Given the description of an element on the screen output the (x, y) to click on. 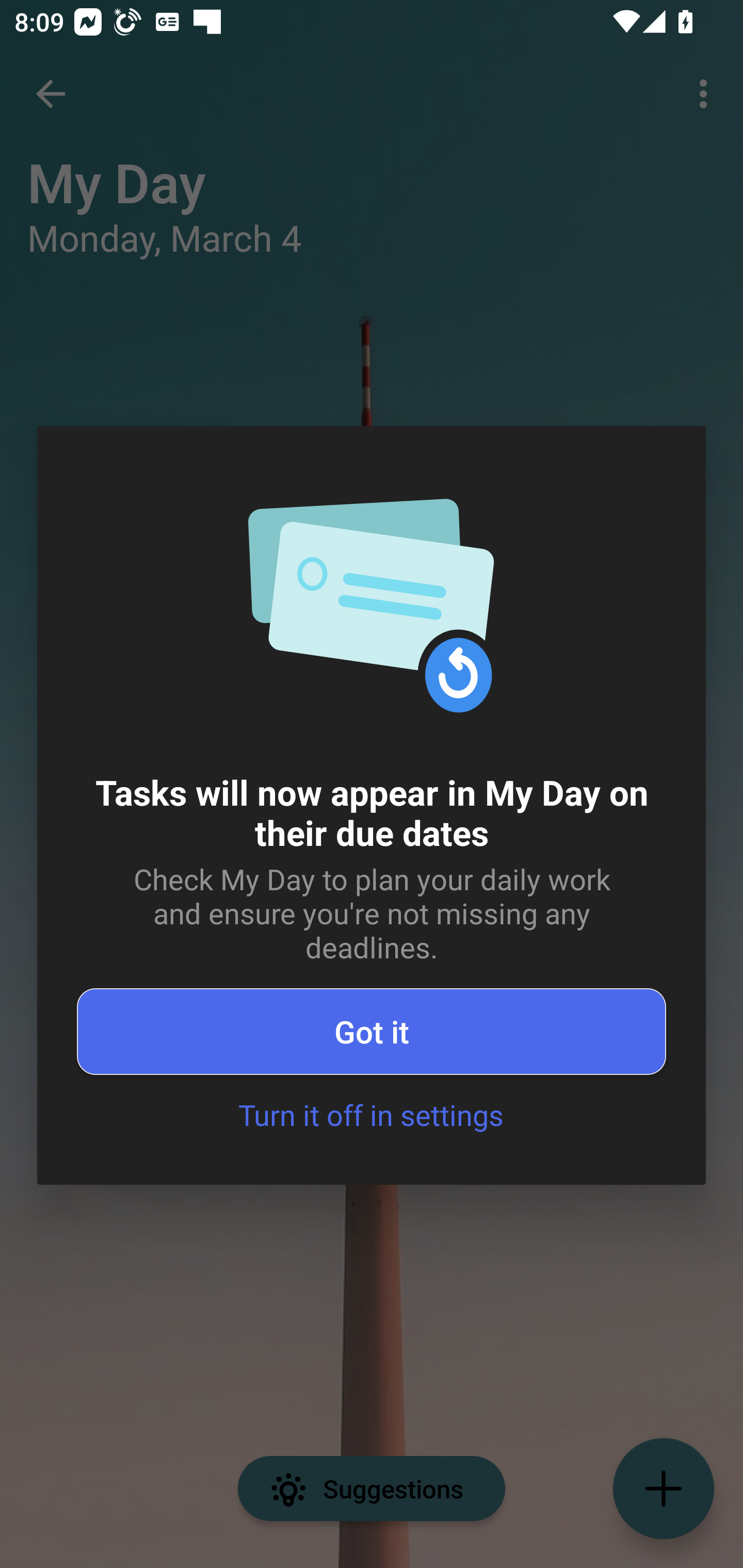
Got it (371, 1031)
Turn it off in settings (371, 1114)
